Given the description of an element on the screen output the (x, y) to click on. 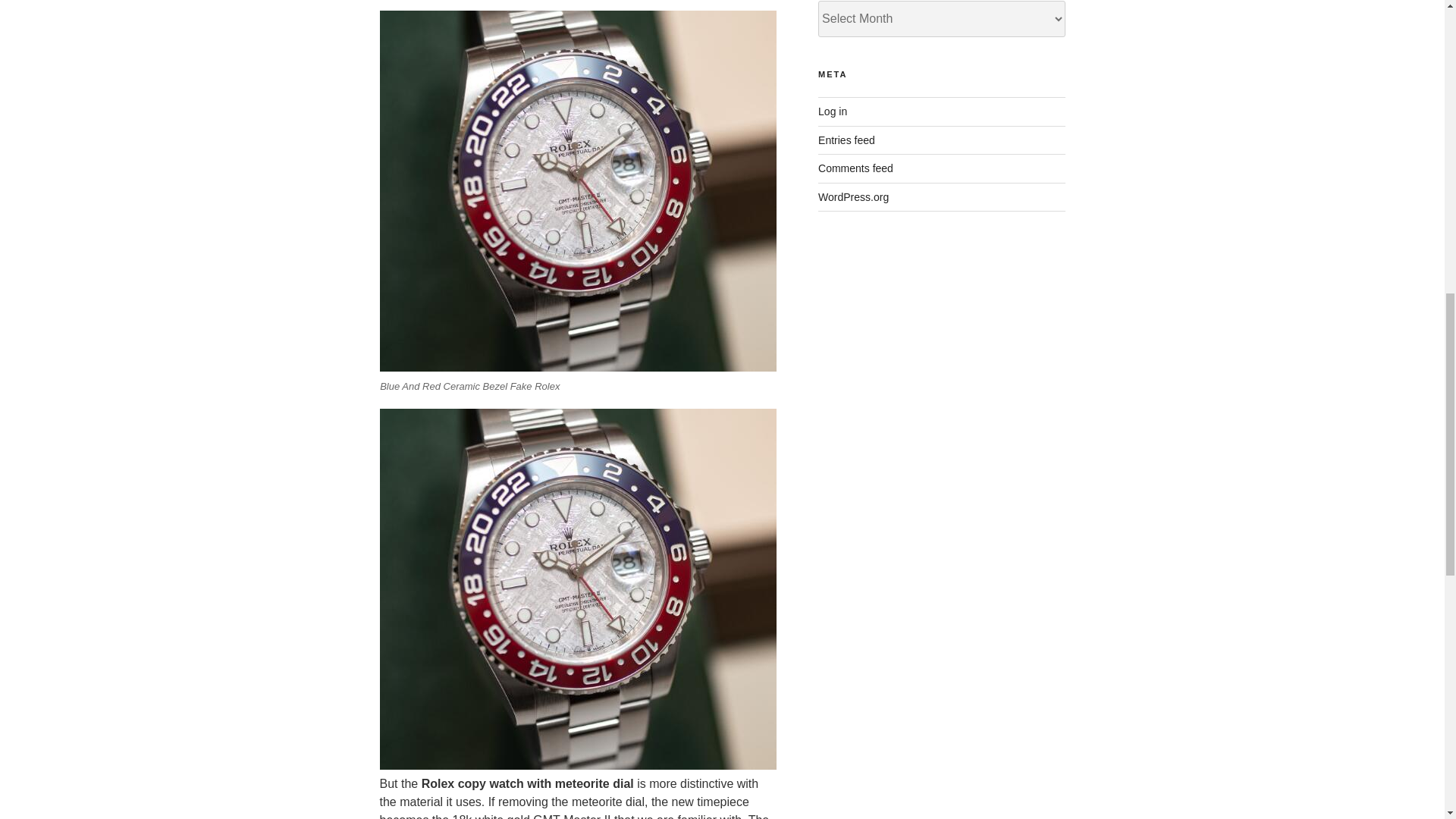
WordPress.org (853, 196)
Entries feed (846, 140)
Log in (832, 111)
Comments feed (855, 168)
